Given the description of an element on the screen output the (x, y) to click on. 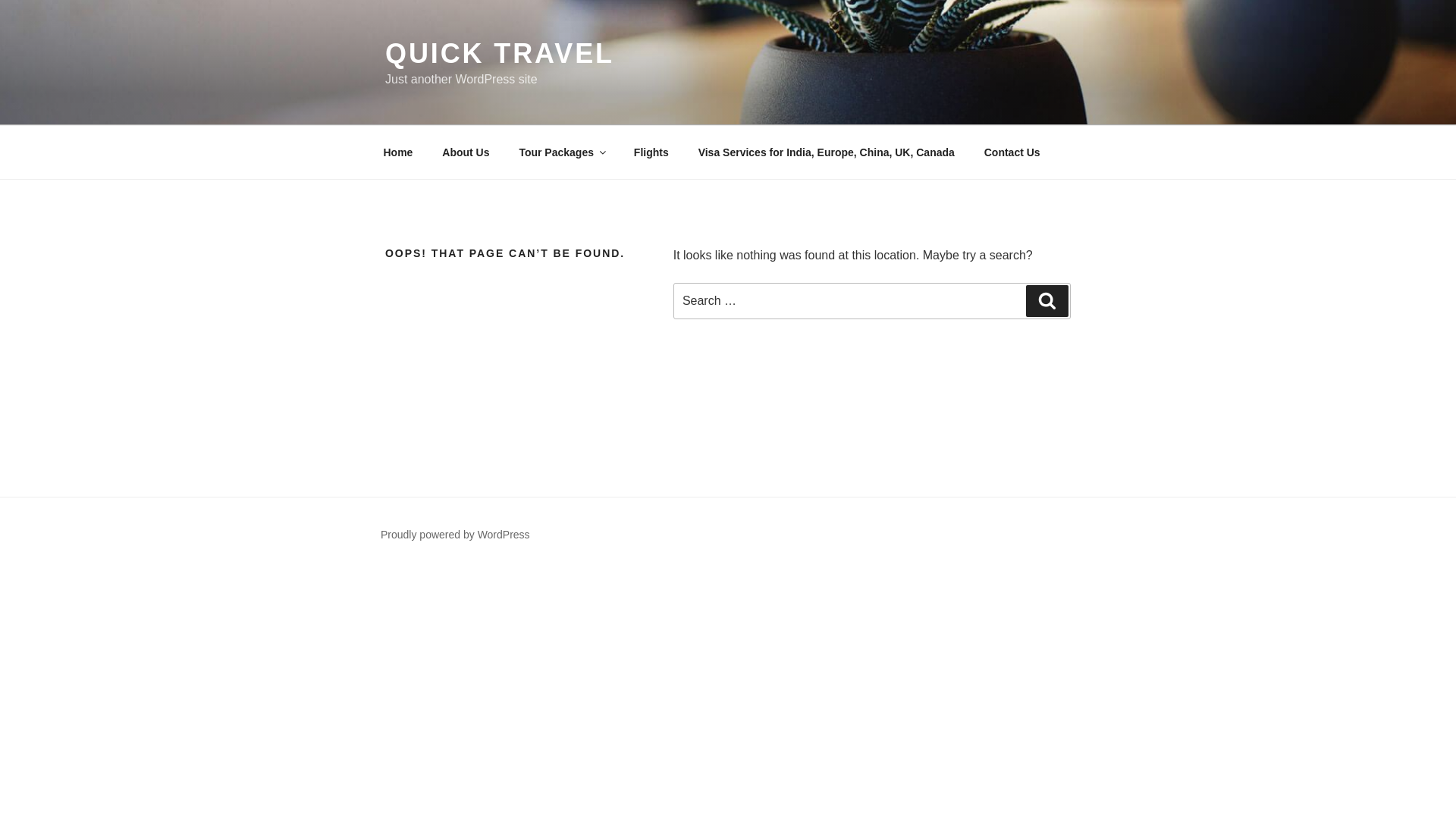
About Us (465, 151)
Search (1047, 300)
Home (397, 151)
Tour Packages (561, 151)
QUICK TRAVEL (499, 52)
Proudly powered by WordPress (454, 534)
Flights (650, 151)
Visa Services for India, Europe, China, UK, Canada (826, 151)
Contact Us (1011, 151)
